Given the description of an element on the screen output the (x, y) to click on. 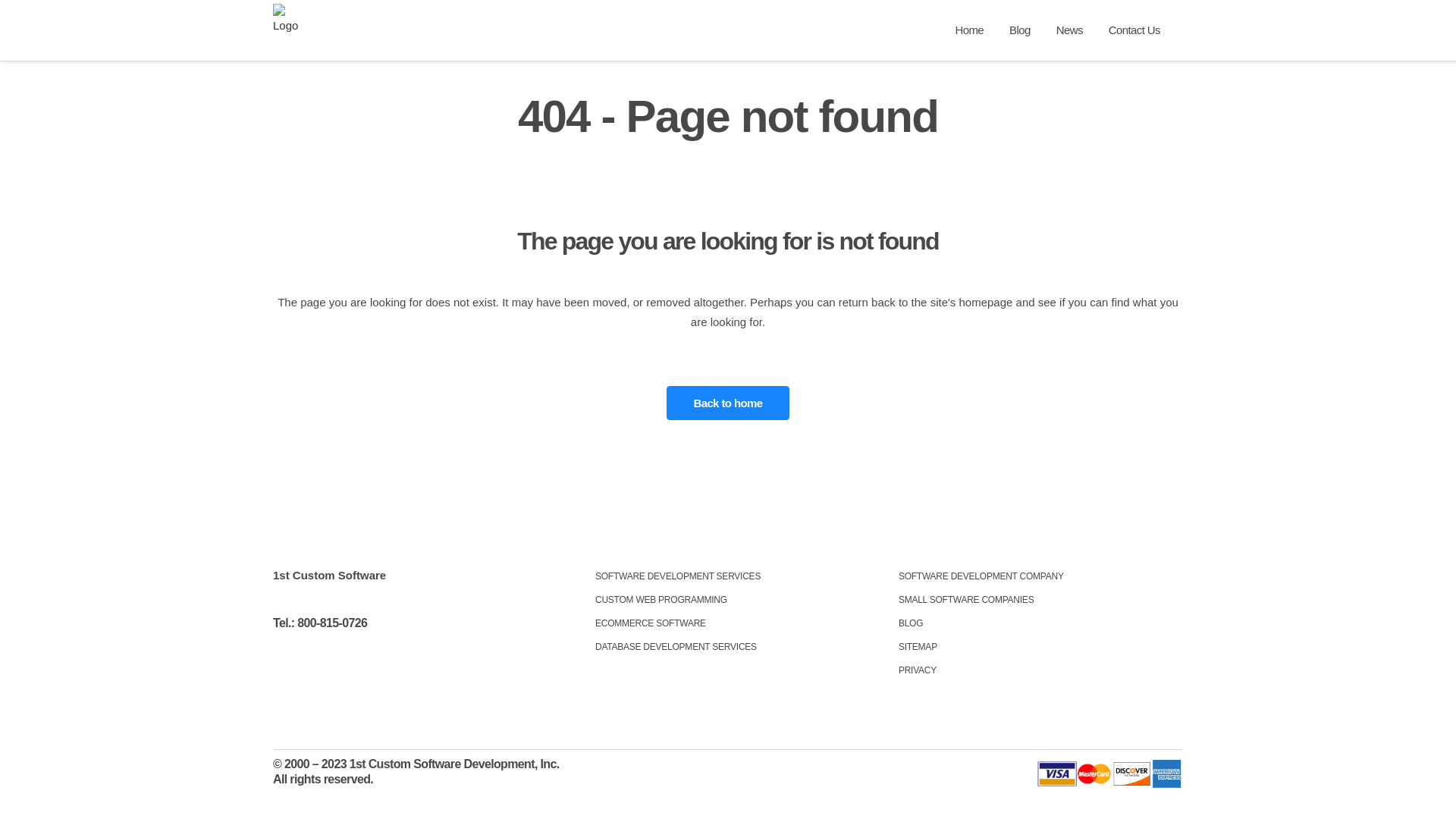
SOFTWARE DEVELOPMENT SERVICES Element type: text (735, 576)
Contact Us Element type: text (1134, 30)
Blog Element type: text (1019, 30)
SITEMAP Element type: text (1040, 646)
ECOMMERCE SOFTWARE Element type: text (735, 623)
Back to home Element type: text (727, 402)
Home Element type: text (968, 30)
SMALL SOFTWARE COMPANIES Element type: text (1040, 599)
BLOG Element type: text (1040, 623)
DATABASE DEVELOPMENT SERVICES Element type: text (735, 646)
CUSTOM WEB PROGRAMMING Element type: text (735, 599)
News Element type: text (1069, 30)
SOFTWARE DEVELOPMENT COMPANY Element type: text (1040, 576)
PRIVACY Element type: text (1040, 670)
